Given the description of an element on the screen output the (x, y) to click on. 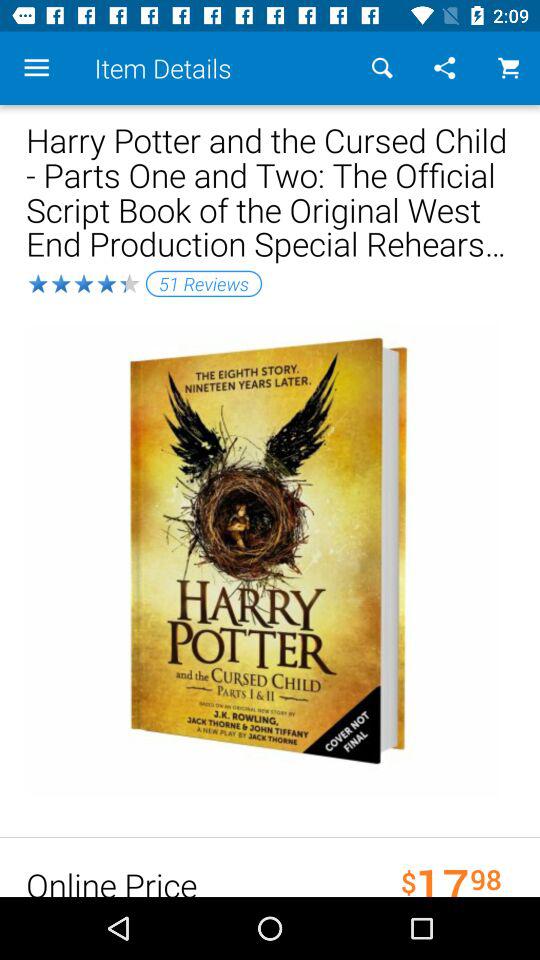
jump until 51 reviews icon (203, 283)
